Given the description of an element on the screen output the (x, y) to click on. 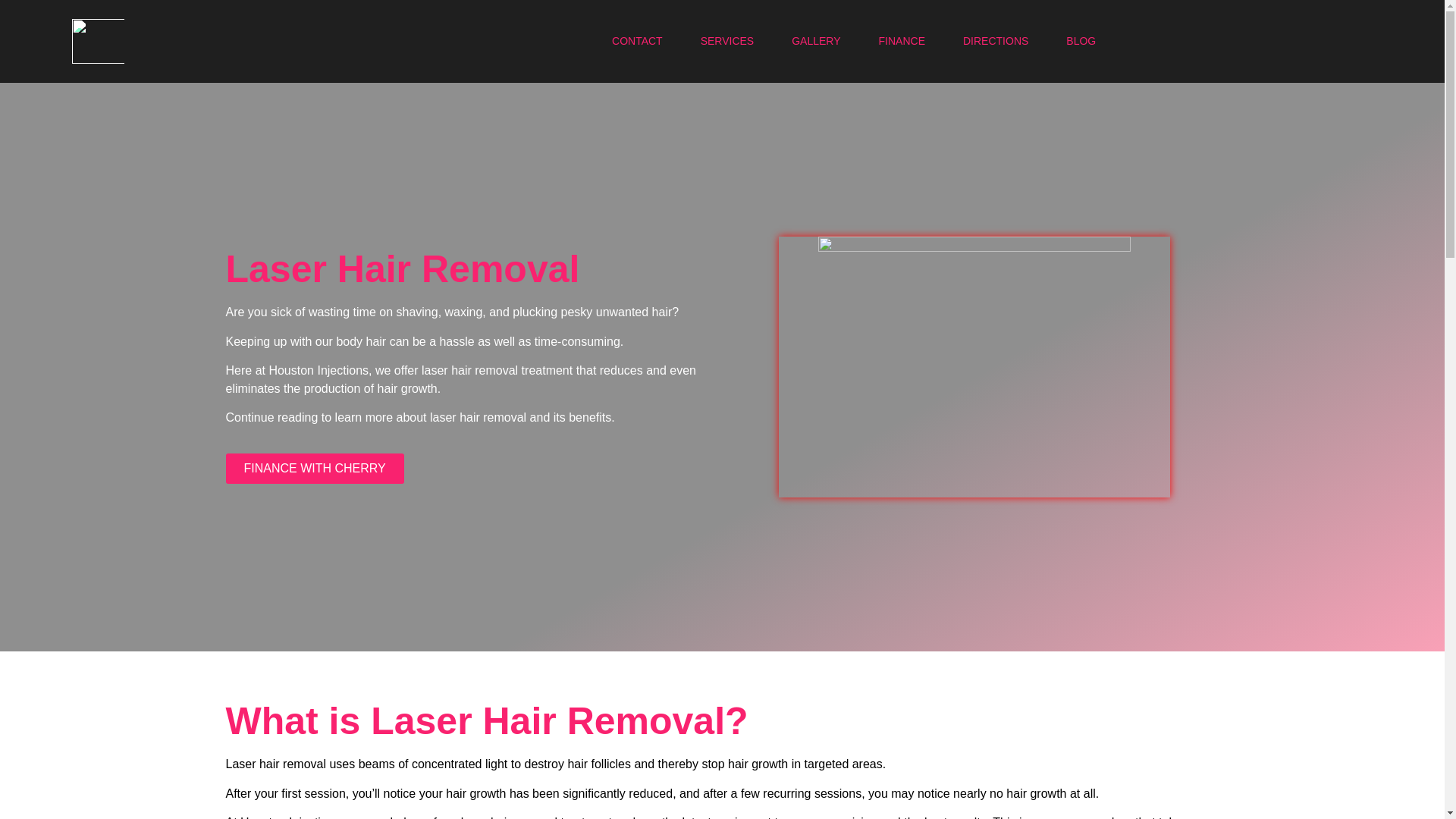
CONTACT (636, 40)
GALLERY (816, 40)
BLOG (1080, 40)
DIRECTIONS (994, 40)
SERVICES (727, 40)
FINANCE (901, 40)
